Given the description of an element on the screen output the (x, y) to click on. 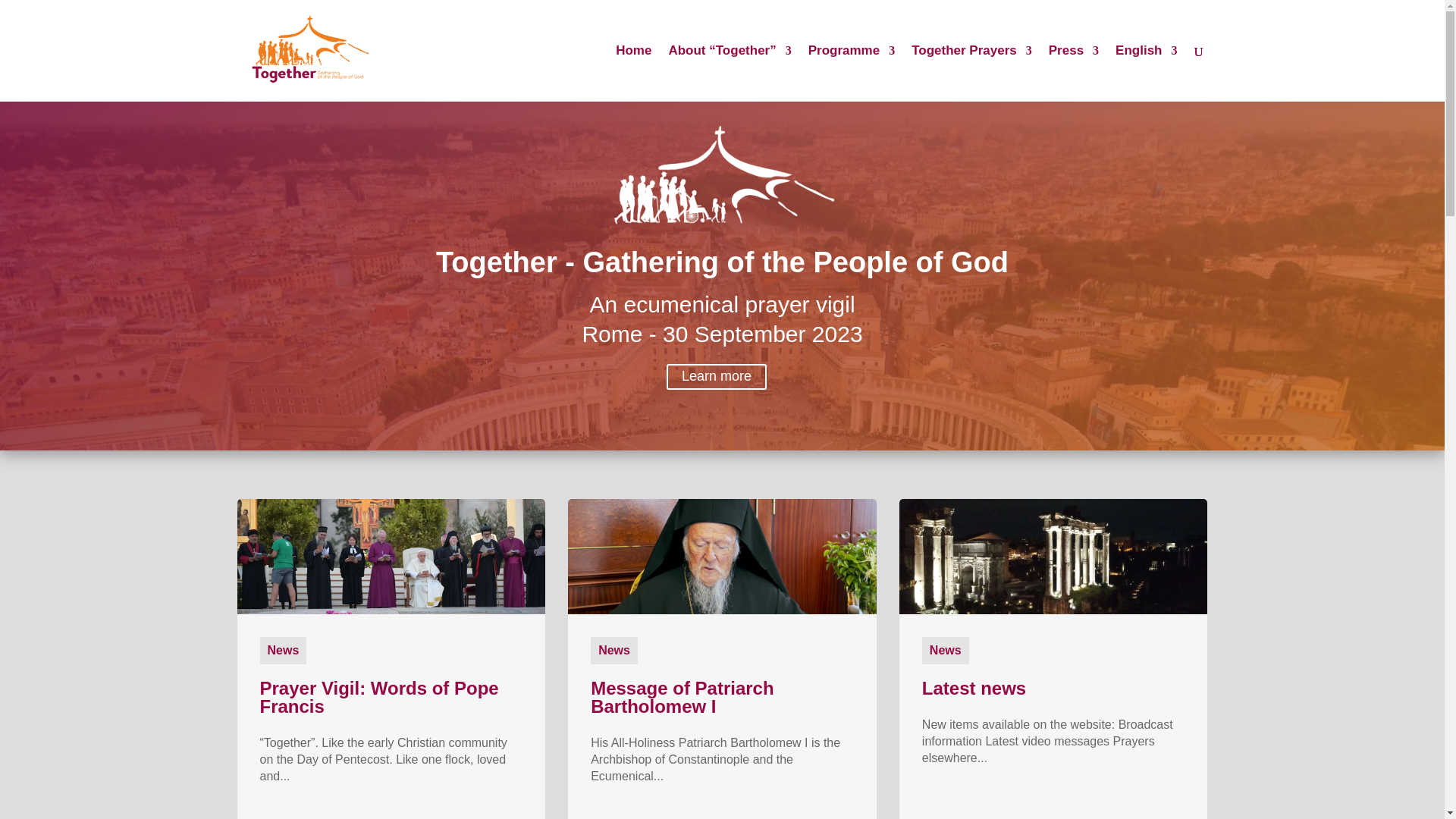
Together Prayers (971, 73)
Prayer Vigil: Words of Pope Francis (378, 697)
News (282, 649)
English (1145, 73)
Message of Patriarch Bartholomew I (682, 697)
Programme (851, 73)
Learn more (716, 376)
Press (1073, 73)
News (614, 649)
